Given the description of an element on the screen output the (x, y) to click on. 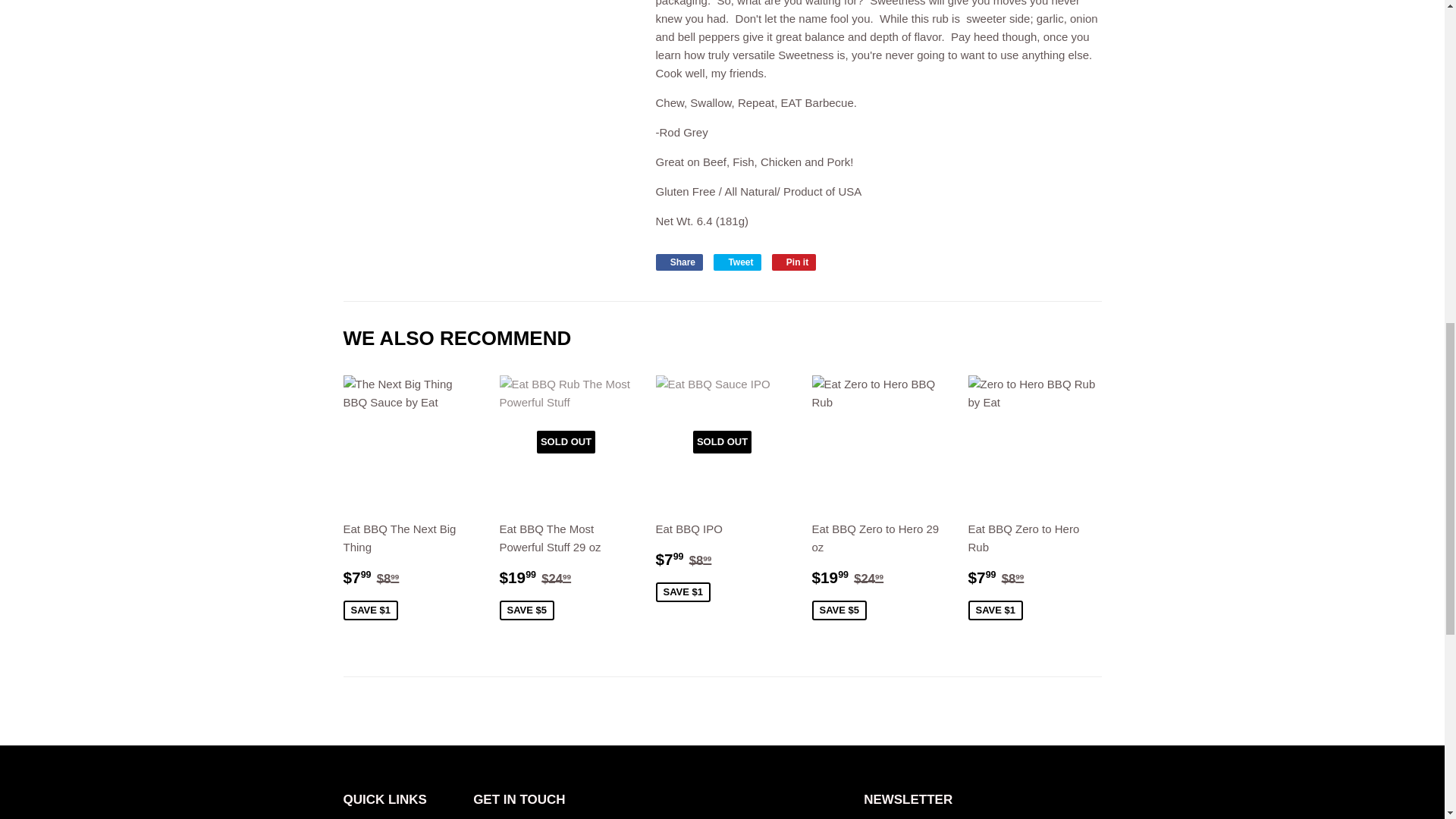
Share on Facebook (679, 262)
Pin on Pinterest (793, 262)
Tweet on Twitter (736, 262)
